Given the description of an element on the screen output the (x, y) to click on. 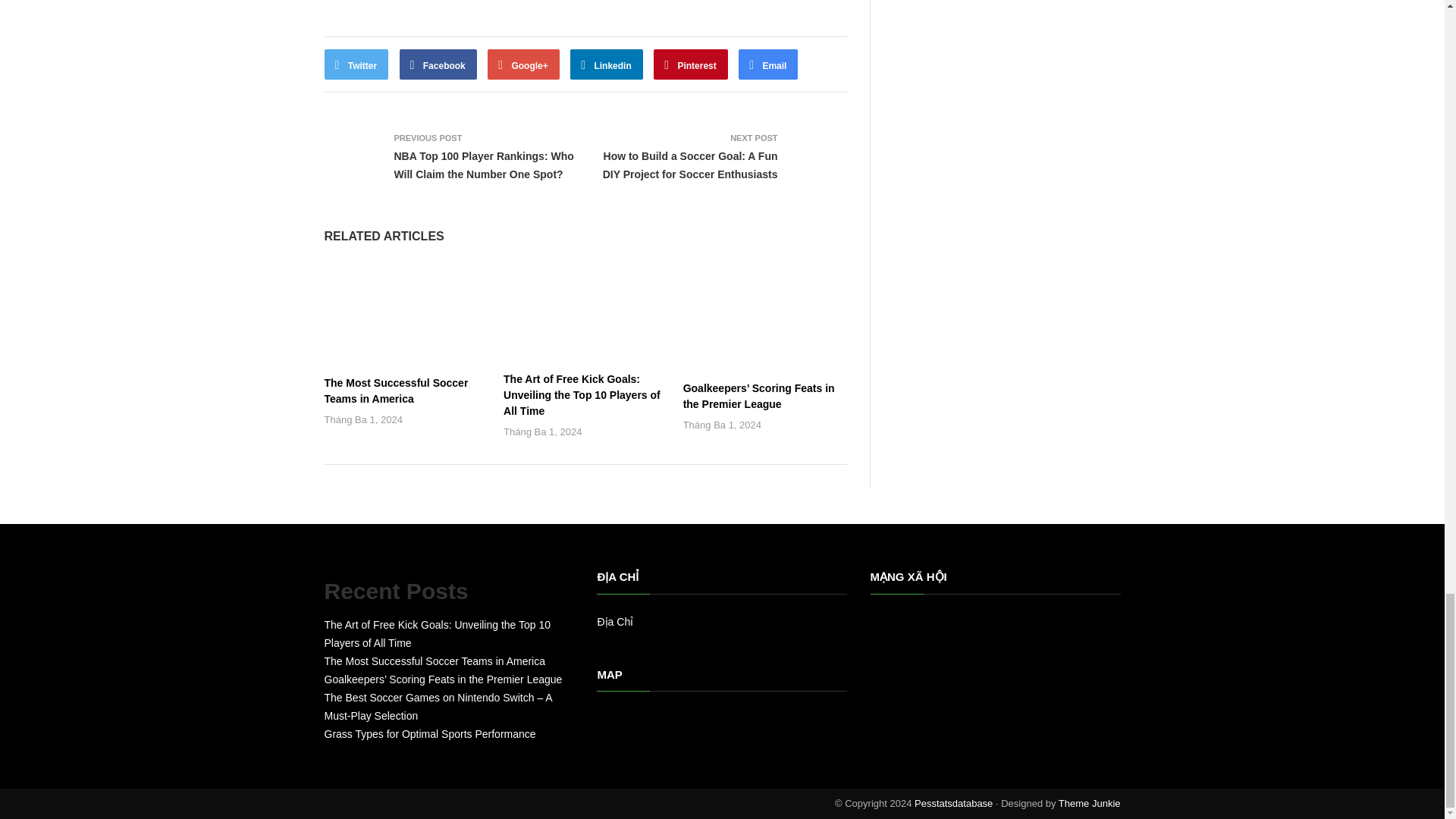
Pinterest (690, 64)
Linkedin (606, 64)
Twitter (356, 64)
Facebook (437, 64)
Email (767, 64)
The Most Successful Soccer Teams in America (396, 390)
